Given the description of an element on the screen output the (x, y) to click on. 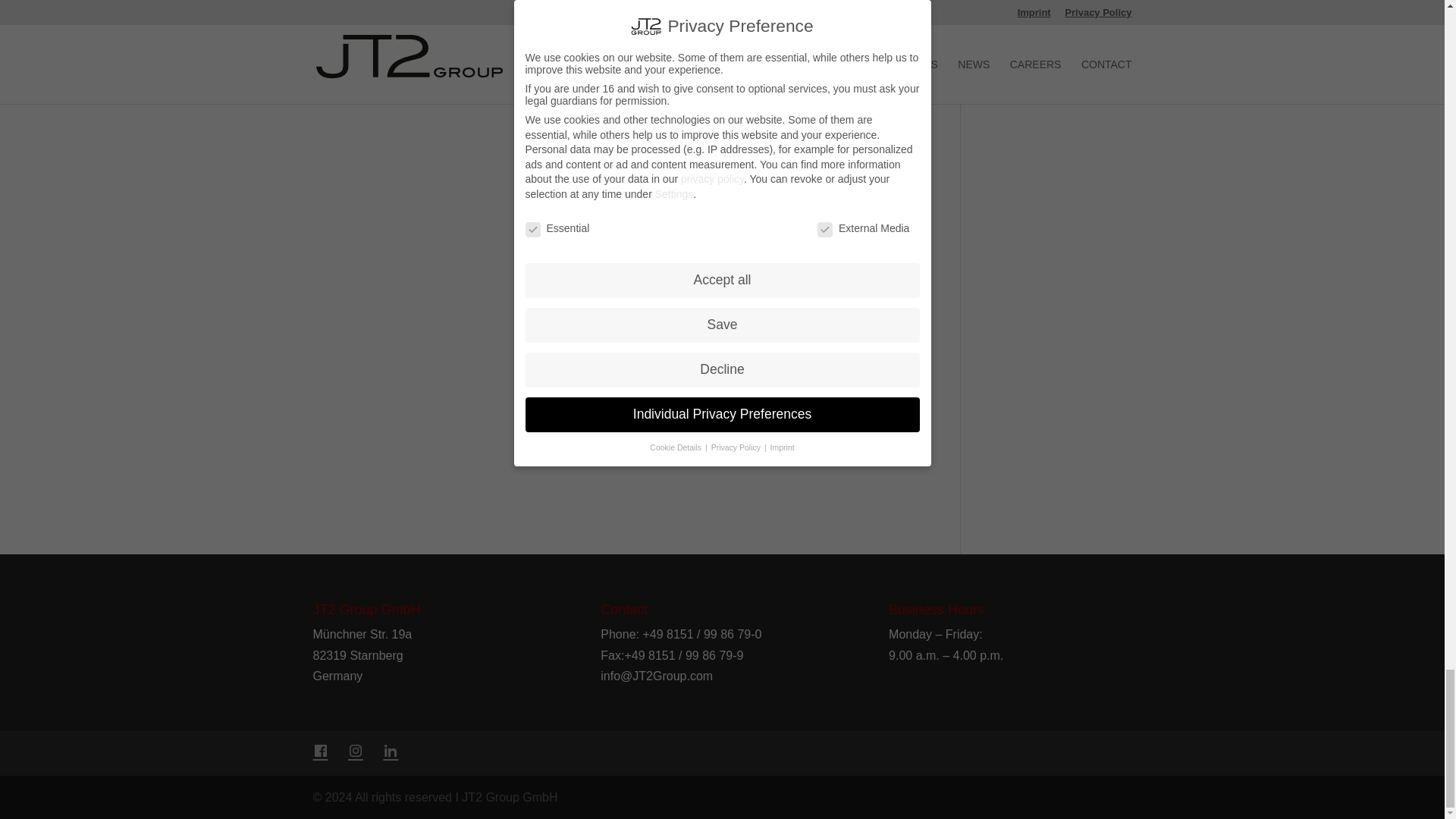
E-Mail verfassen (656, 675)
